Given the description of an element on the screen output the (x, y) to click on. 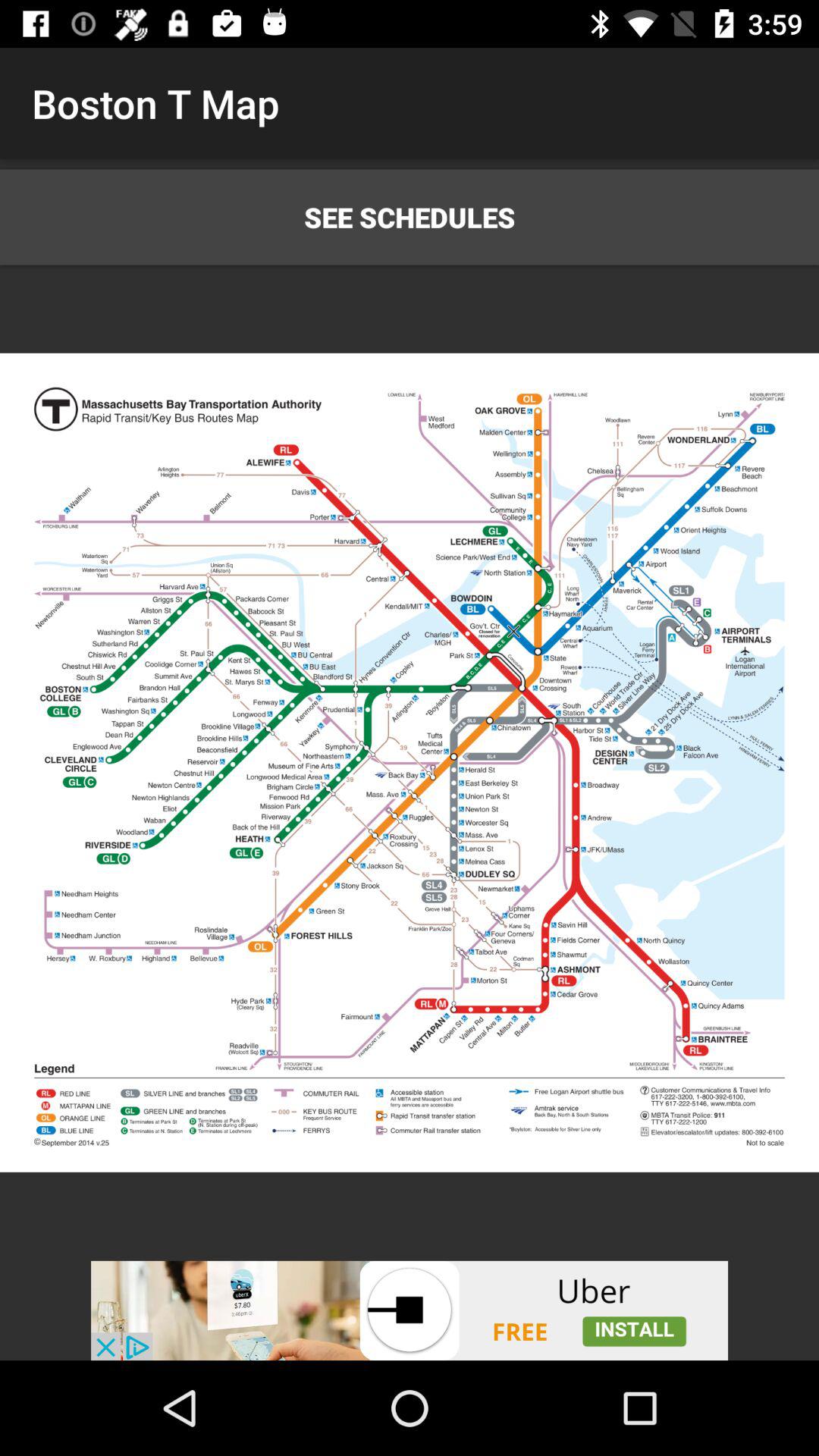
zoom map (409, 762)
